Given the description of an element on the screen output the (x, y) to click on. 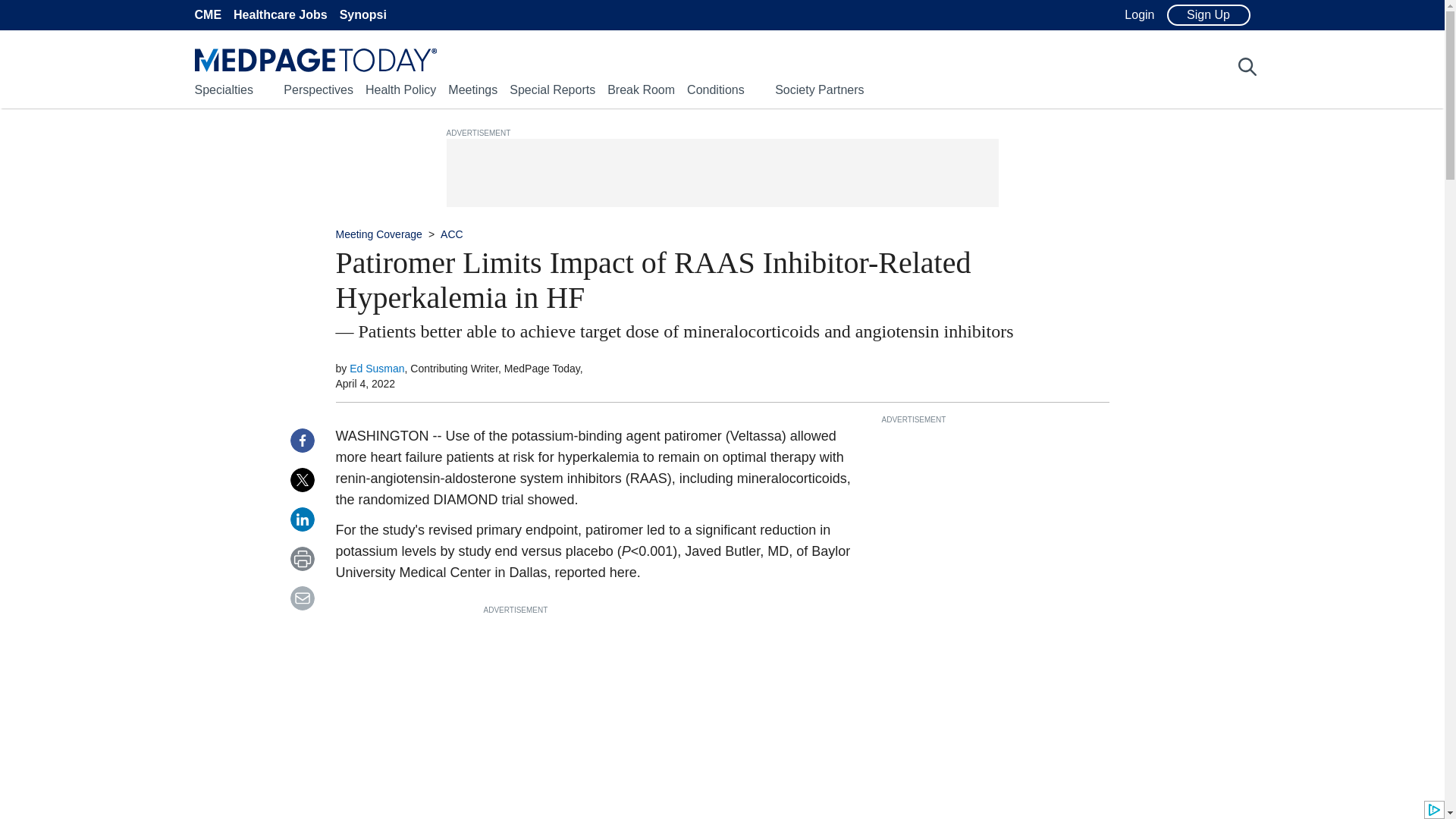
Share on X. Opens in a new tab or window (301, 479)
Synopsi (363, 15)
3rd party ad content (721, 172)
Healthcare Jobs (279, 15)
3rd party ad content (597, 710)
CME (207, 15)
Specialties (222, 89)
Share on Facebook. Opens in a new tab or window (301, 440)
Share on LinkedIn. Opens in a new tab or window (301, 518)
